Given the description of an element on the screen output the (x, y) to click on. 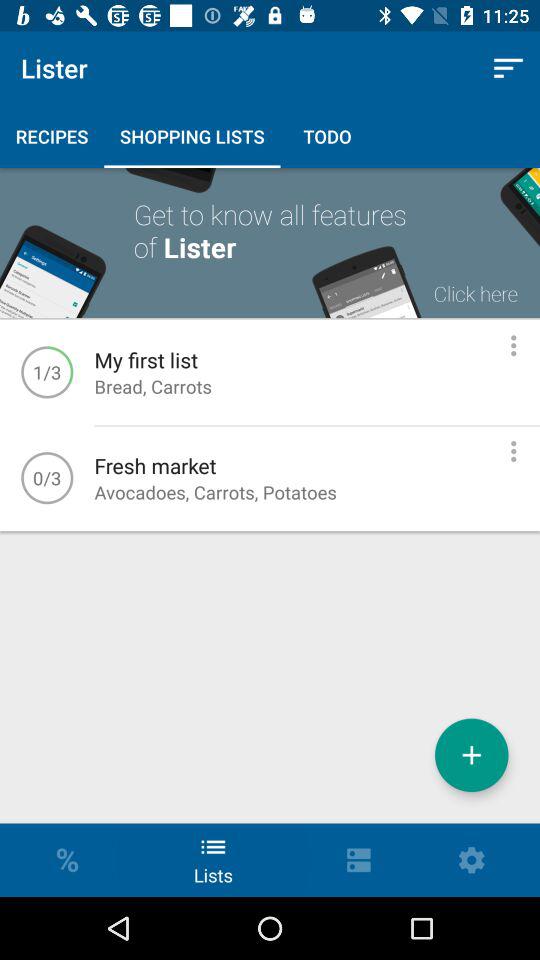
press icon to the right of the lister icon (508, 67)
